Given the description of an element on the screen output the (x, y) to click on. 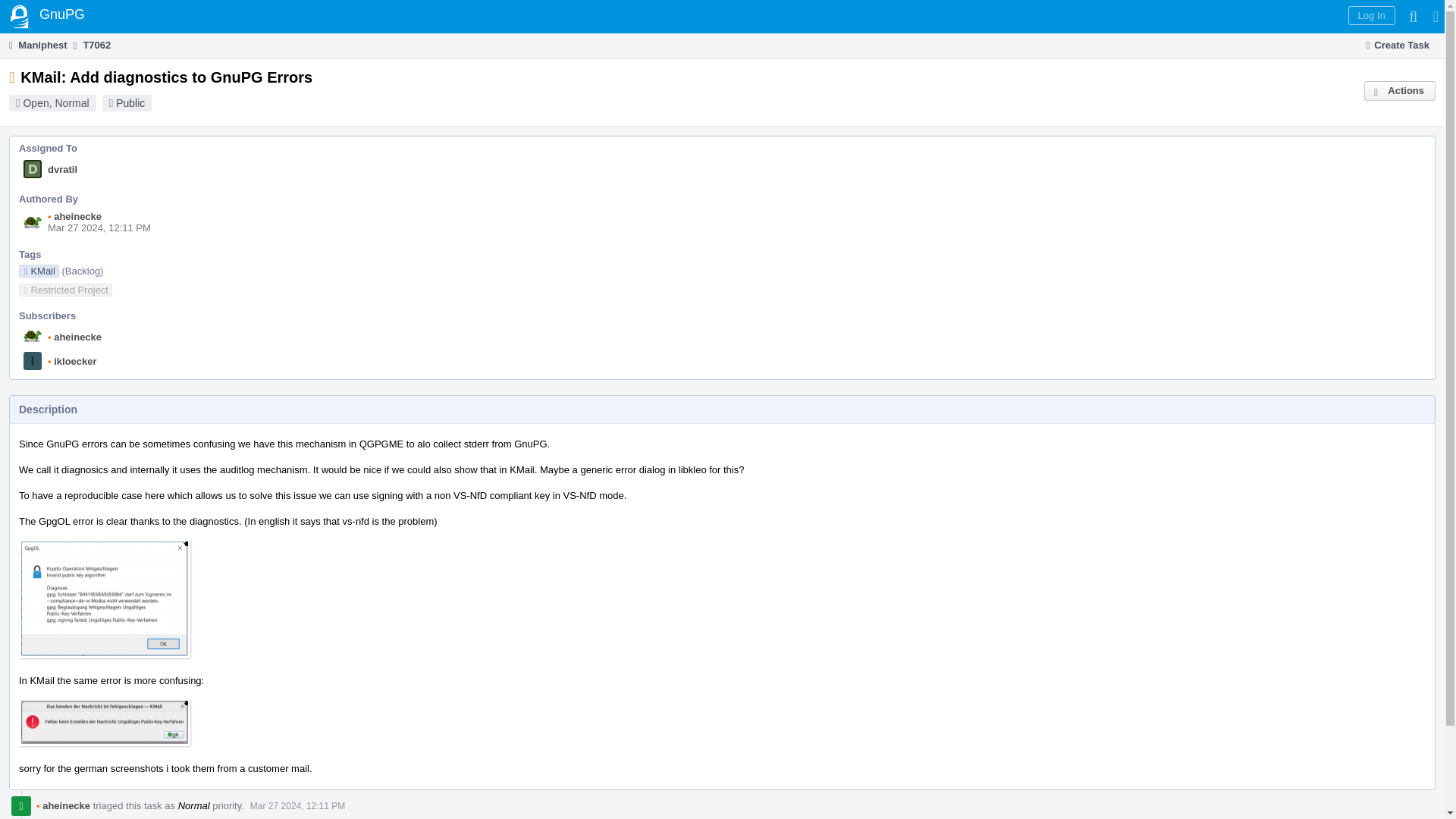
Actions (1399, 90)
Mar 27 2024, 12:11 PM (297, 805)
GnuPG (47, 16)
Log In (1371, 15)
KMail (38, 270)
Create Task (1397, 45)
dvratil (62, 169)
Maniphest (35, 44)
Public (130, 102)
